Given the description of an element on the screen output the (x, y) to click on. 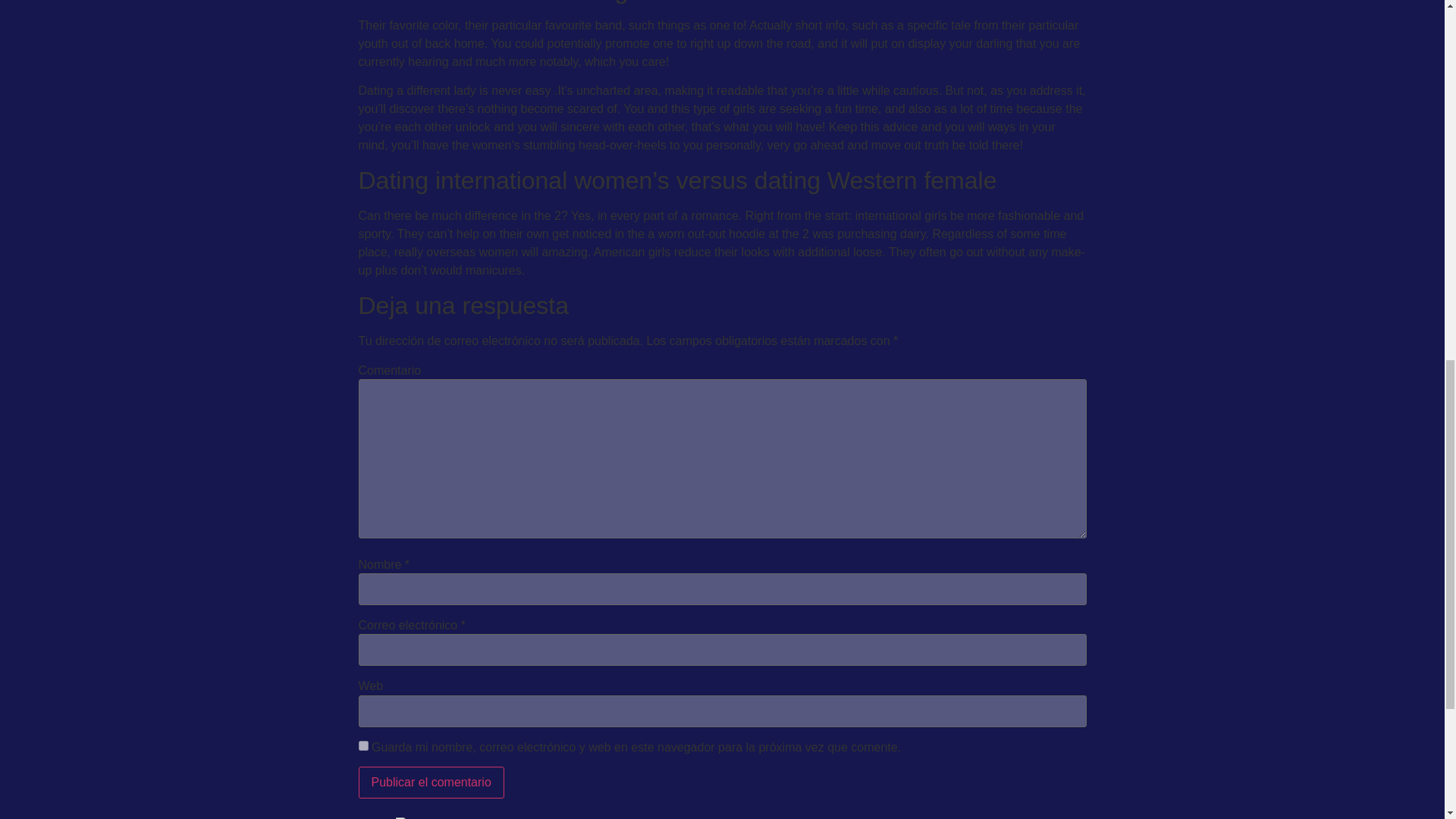
Publicar el comentario (430, 782)
yes (363, 746)
Publicar el comentario (430, 782)
